Given the description of an element on the screen output the (x, y) to click on. 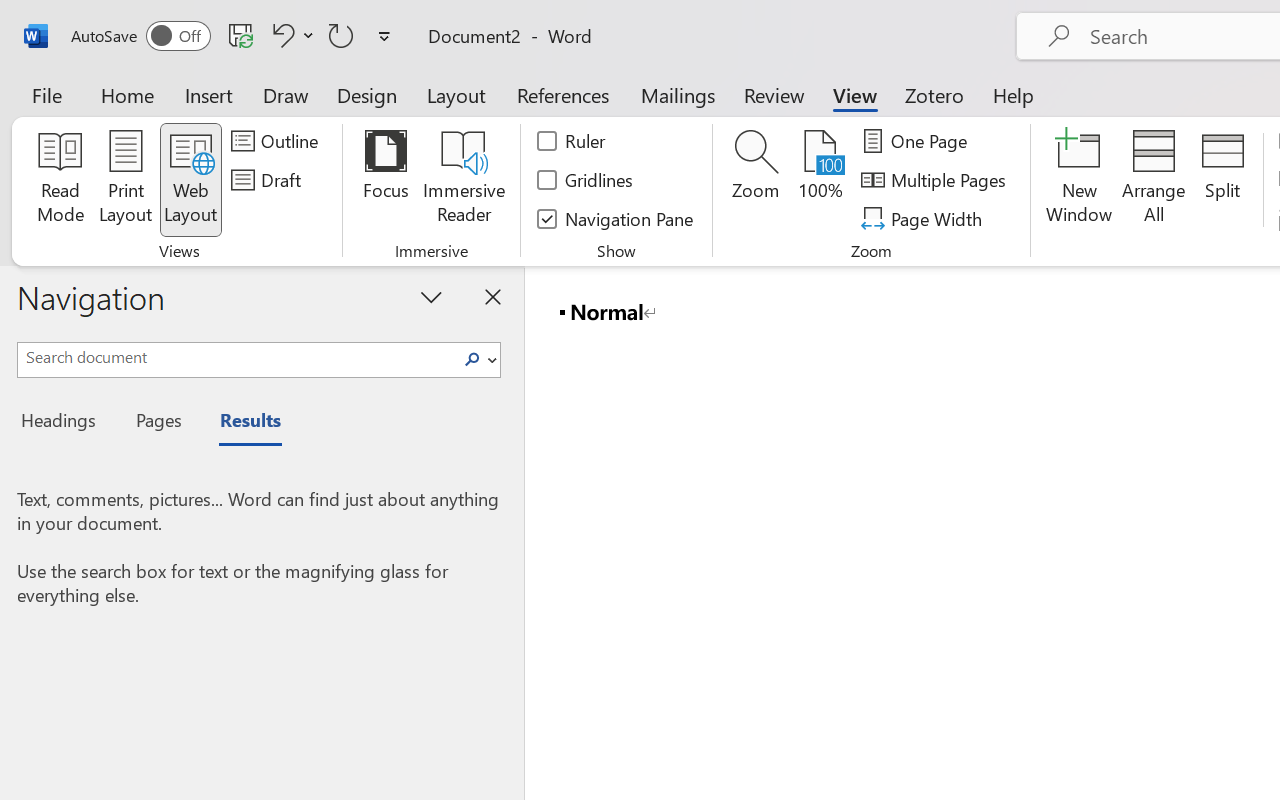
AutoSave (140, 35)
Draft (269, 179)
Multiple Pages (936, 179)
Results (240, 423)
One Page (917, 141)
Focus (385, 179)
Repeat Doc Close (341, 35)
Search (471, 359)
Zoom... (755, 179)
Mailings (678, 94)
